Given the description of an element on the screen output the (x, y) to click on. 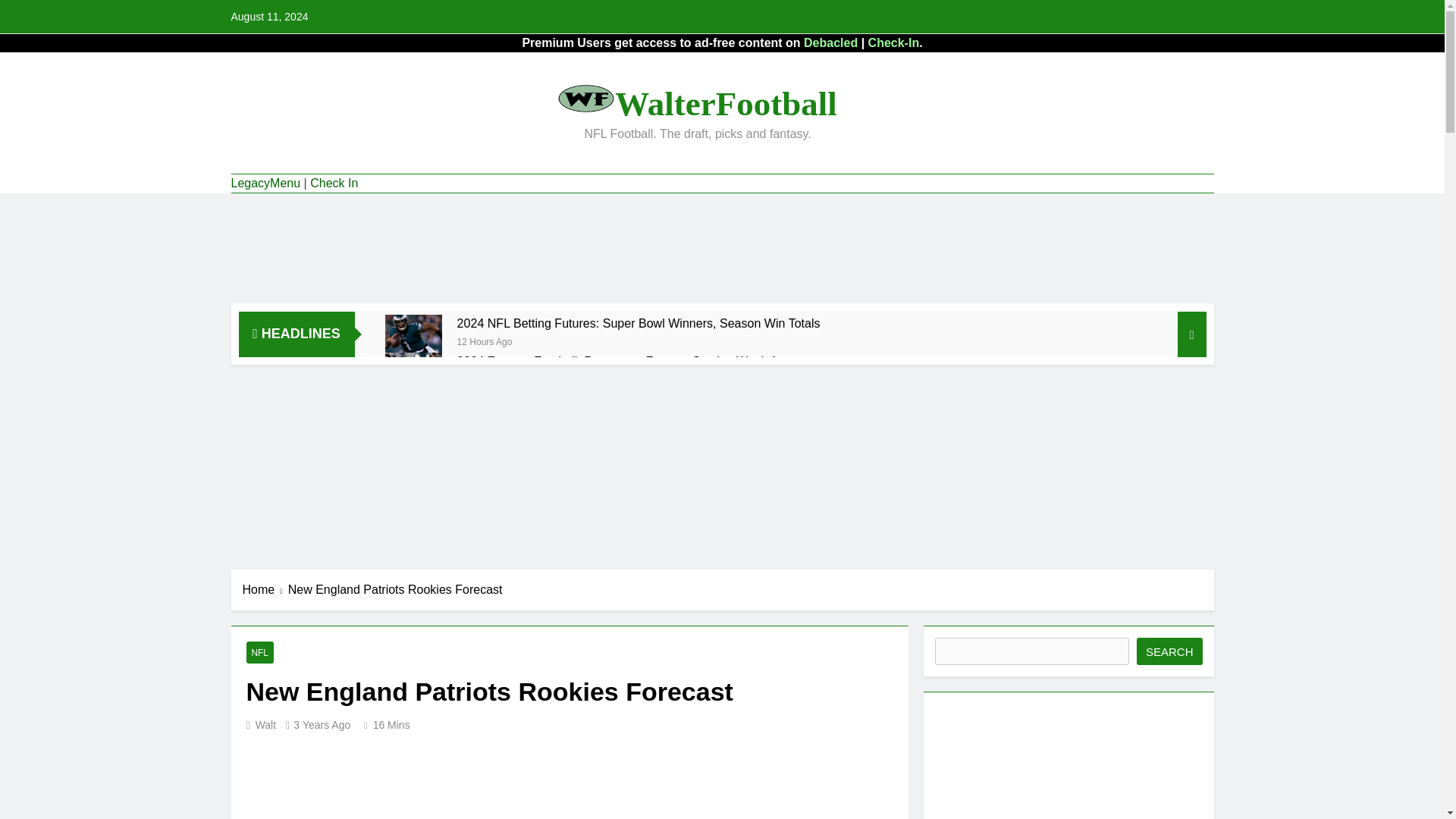
LegacyMenu (264, 183)
Check-In (893, 42)
Check In (334, 183)
Debacled (830, 42)
WalterFootball (724, 103)
